Given the description of an element on the screen output the (x, y) to click on. 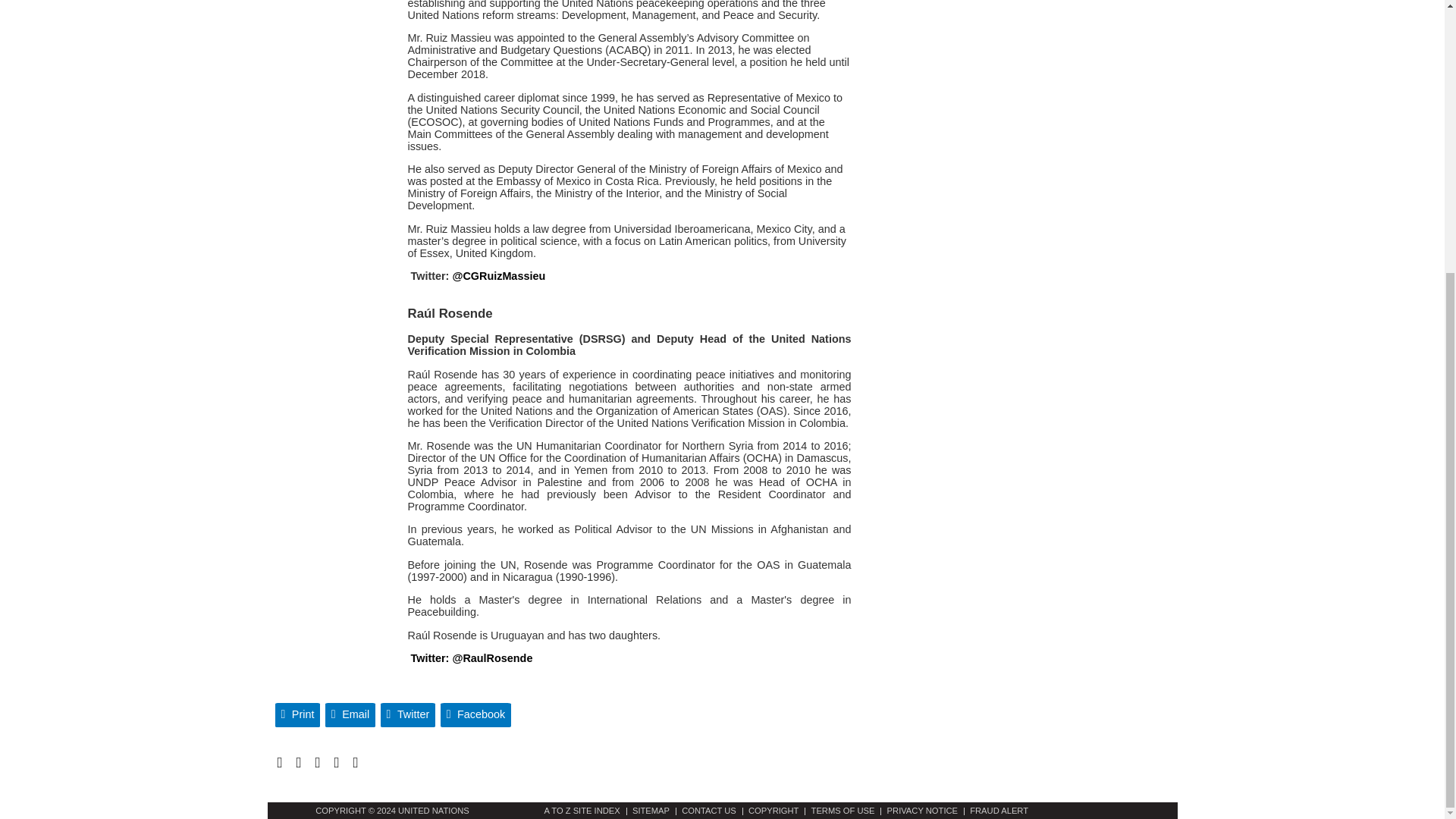
Find us on Twitter (279, 762)
Find us on Flickr (336, 762)
Find us on YouTube (317, 762)
Twitter (407, 714)
Facebook (476, 714)
Find us on Facebook (298, 762)
Email (349, 714)
Print (297, 714)
